Given the description of an element on the screen output the (x, y) to click on. 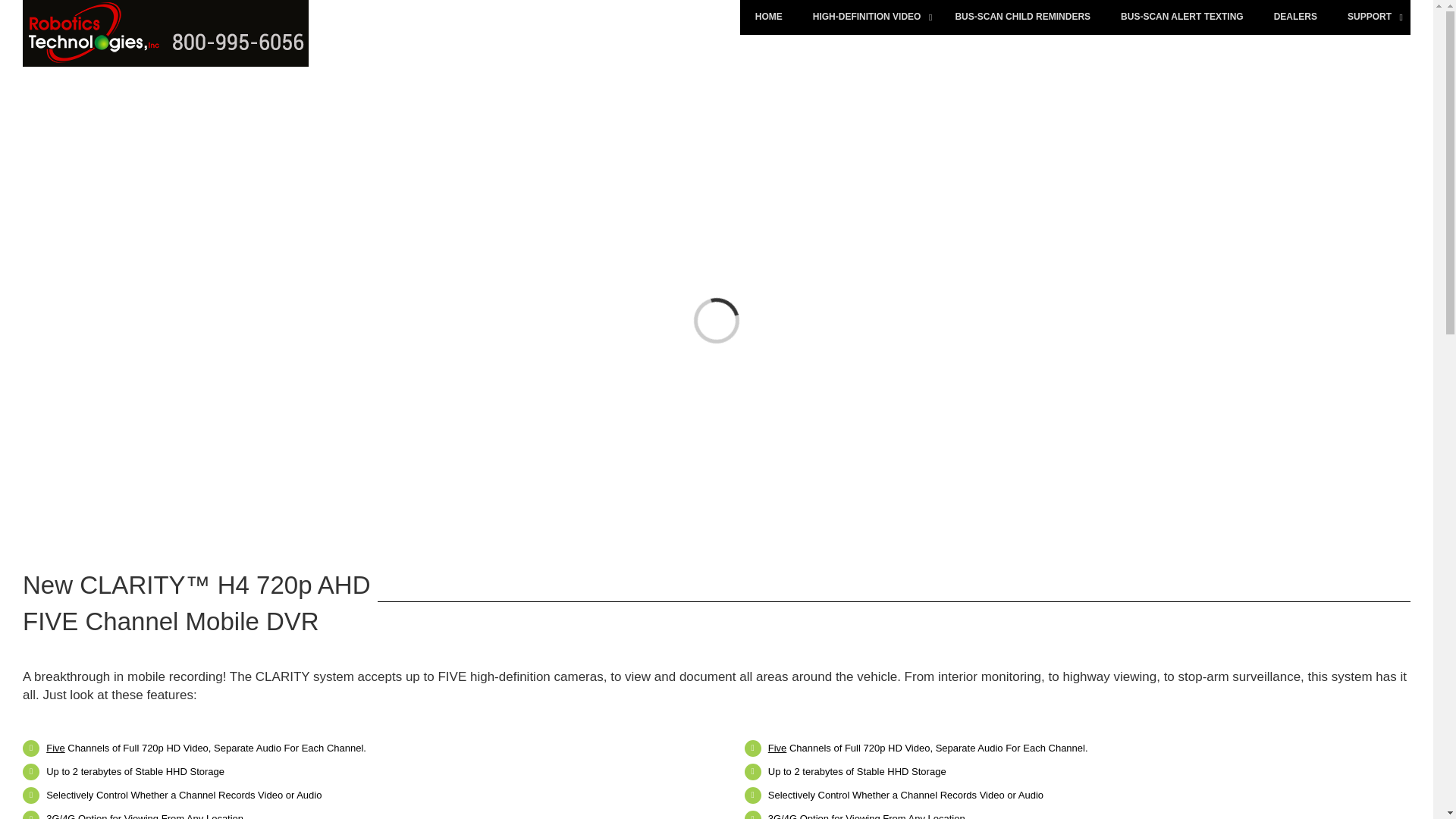
DEALERS (1295, 17)
BUS-SCAN CHILD REMINDERS (1022, 17)
BUS-SCAN ALERT TEXTING (1182, 17)
HOME (768, 17)
HIGH-DEFINITION VIDEO (868, 17)
SUPPORT (1371, 17)
